Given the description of an element on the screen output the (x, y) to click on. 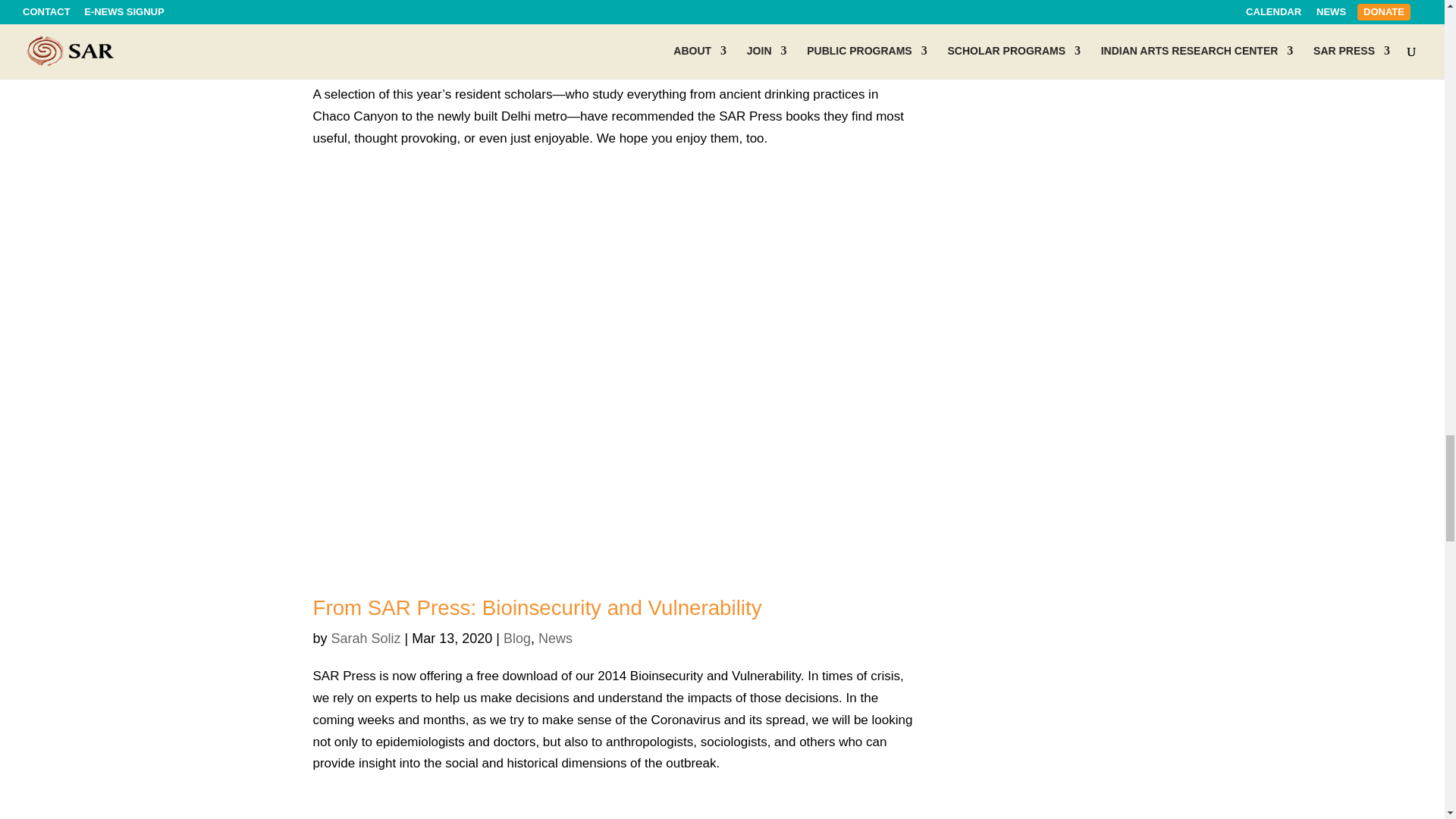
Posts by Sarah Soliz (366, 56)
Posts by Sarah Soliz (366, 638)
